Given the description of an element on the screen output the (x, y) to click on. 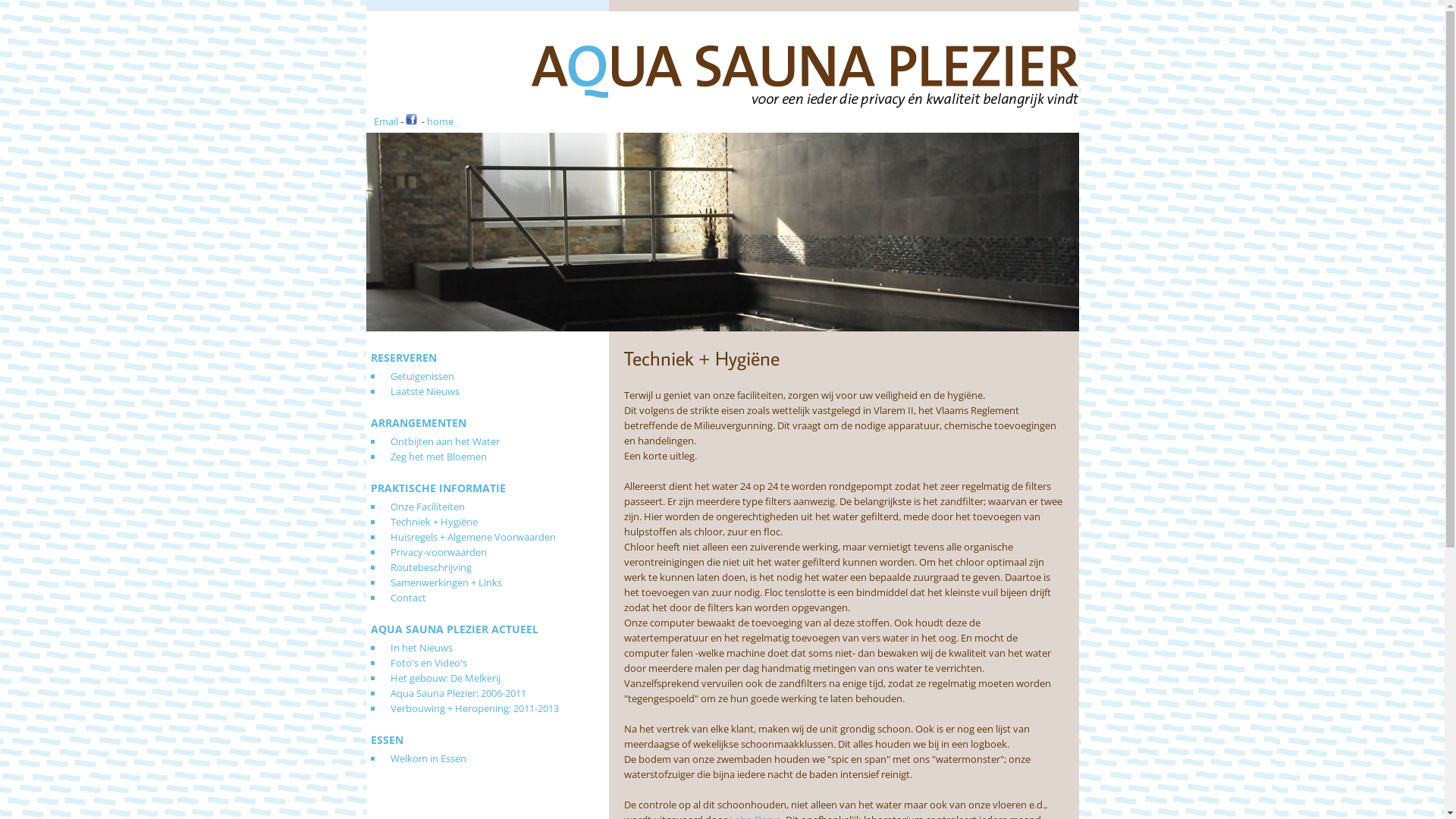
Huisregels + Algemene Voorwaarden Element type: text (460, 536)
image Element type: hover (721, 231)
Routebeschrijving Element type: text (418, 567)
Email Element type: text (385, 121)
Samenwerkingen + Links Element type: text (433, 582)
In het Nieuws Element type: text (409, 647)
home Element type: text (439, 121)
Getuigenissen Element type: text (410, 375)
Het gebouw: De Melkerij Element type: text (433, 677)
Privacy-voorwaarden Element type: text (426, 551)
Onze Faciliteiten Element type: text (415, 506)
Foto's en Video's Element type: text (416, 662)
Ontbijten aan het Water Element type: text (432, 441)
Aqua Sauna Plezier: 2006-2011 Element type: text (446, 692)
Verbouwing + Heropening: 2011-2013 Element type: text (462, 708)
Laatste Nieuws Element type: text (412, 391)
Contact Element type: text (395, 597)
Welkom in Essen Element type: text (416, 758)
Zeg het met Bloemen Element type: text (426, 456)
